Given the description of an element on the screen output the (x, y) to click on. 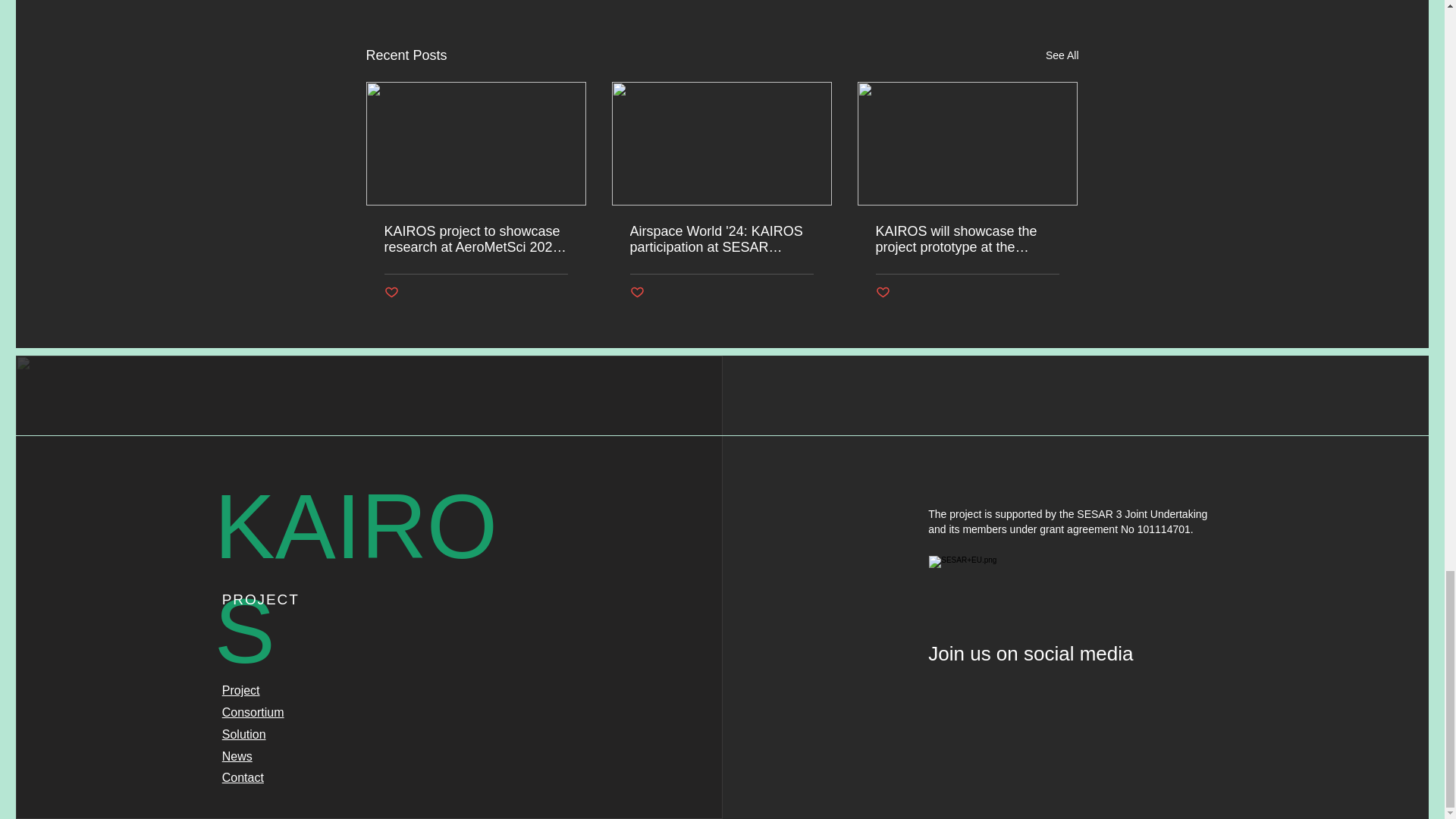
Contact (242, 777)
Solution (244, 734)
News (236, 756)
Post not marked as liked (635, 293)
Consortium (252, 712)
See All (1061, 55)
Post not marked as liked (390, 293)
Project (241, 689)
